Given the description of an element on the screen output the (x, y) to click on. 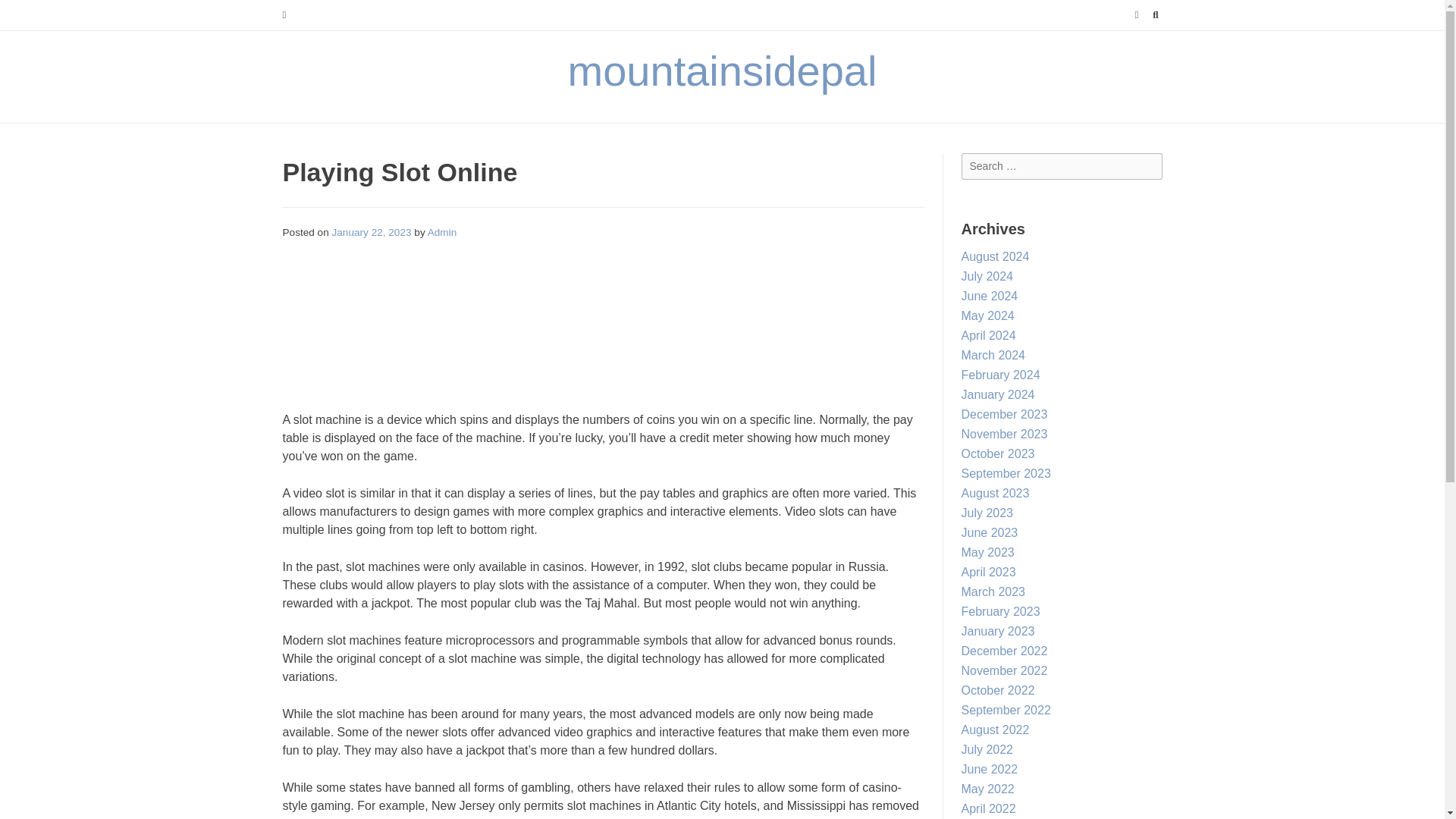
October 2023 (997, 453)
January 2023 (997, 631)
July 2022 (986, 748)
April 2023 (988, 571)
mountainsidepal (722, 70)
November 2023 (1004, 433)
January 22, 2023 (371, 232)
Admin (442, 232)
August 2023 (994, 492)
February 2024 (1000, 374)
